Given the description of an element on the screen output the (x, y) to click on. 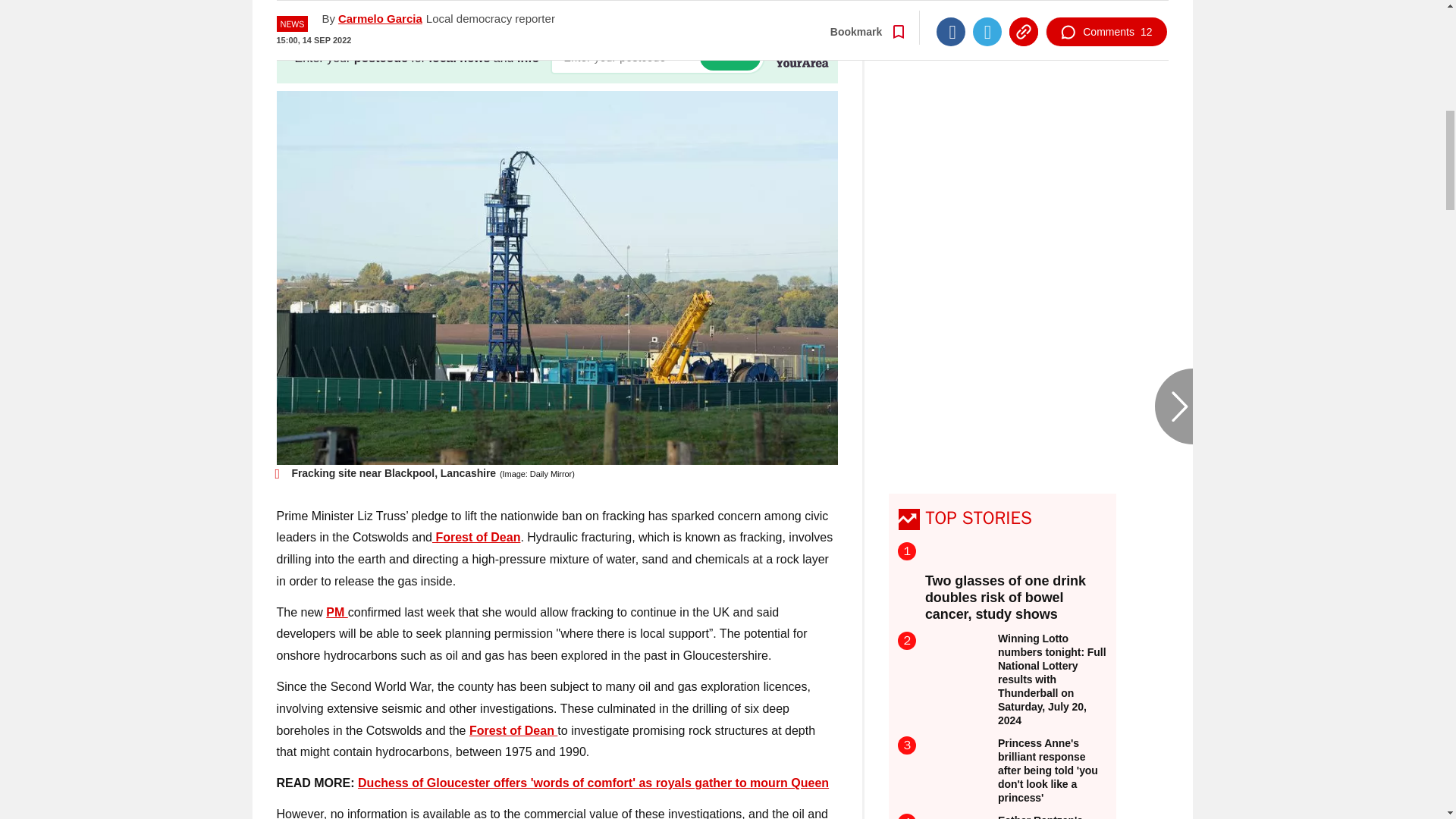
Go (730, 57)
